Given the description of an element on the screen output the (x, y) to click on. 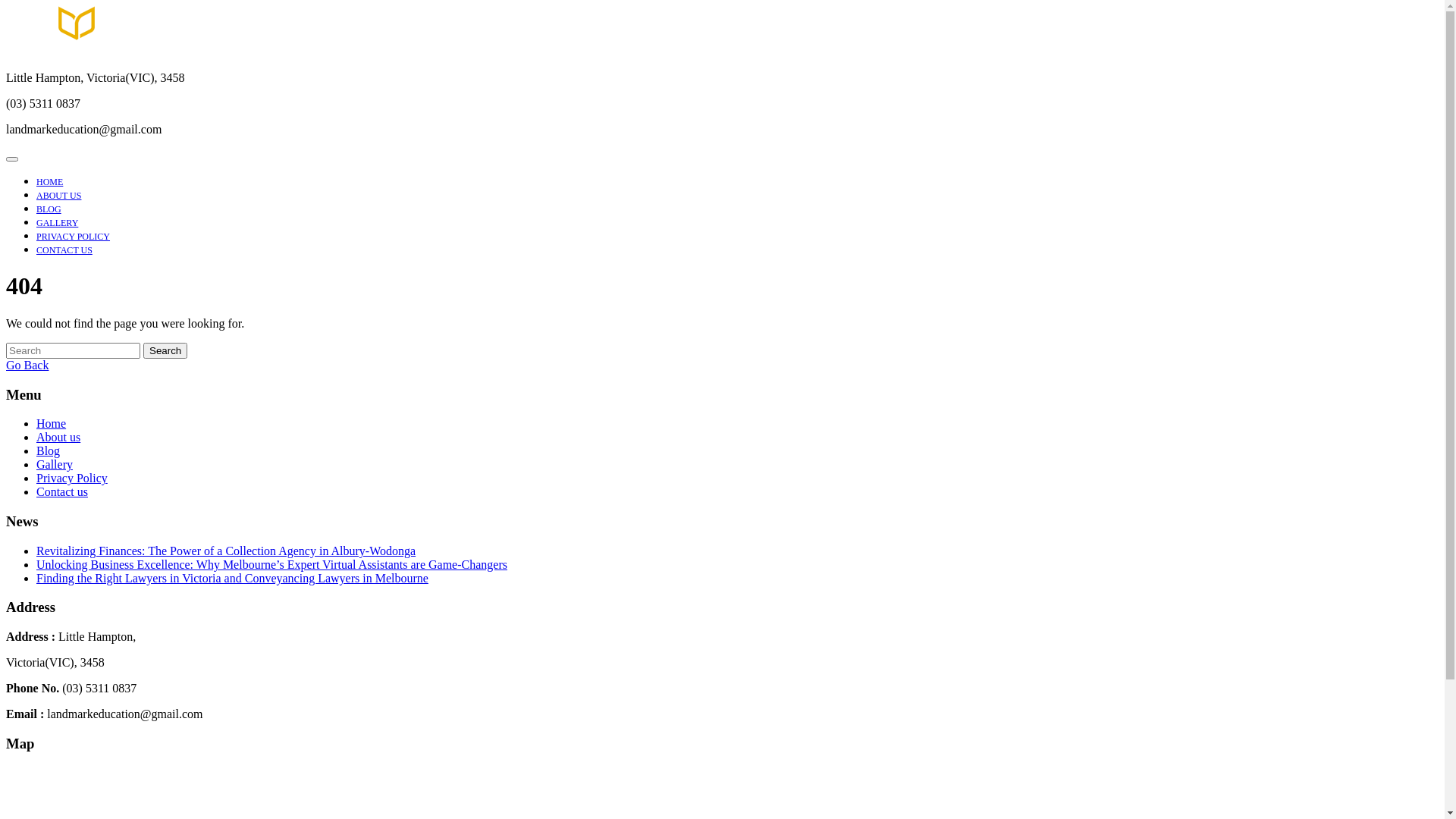
About us Element type: text (58, 436)
Go Back
Go Back Element type: text (27, 364)
Gallery Element type: text (54, 464)
Contact us Element type: text (61, 491)
CONTACT US Element type: text (64, 249)
GALLERY Element type: text (57, 222)
Search Element type: text (165, 350)
HOME Element type: text (49, 181)
Privacy Policy Element type: text (71, 477)
BLOG Element type: text (48, 208)
Home Element type: text (50, 423)
PRIVACY POLICY Element type: text (72, 236)
Skip to content Element type: text (5, 5)
ABOUT US Element type: text (58, 195)
Blog Element type: text (47, 450)
Open Menu Element type: text (12, 158)
